Given the description of an element on the screen output the (x, y) to click on. 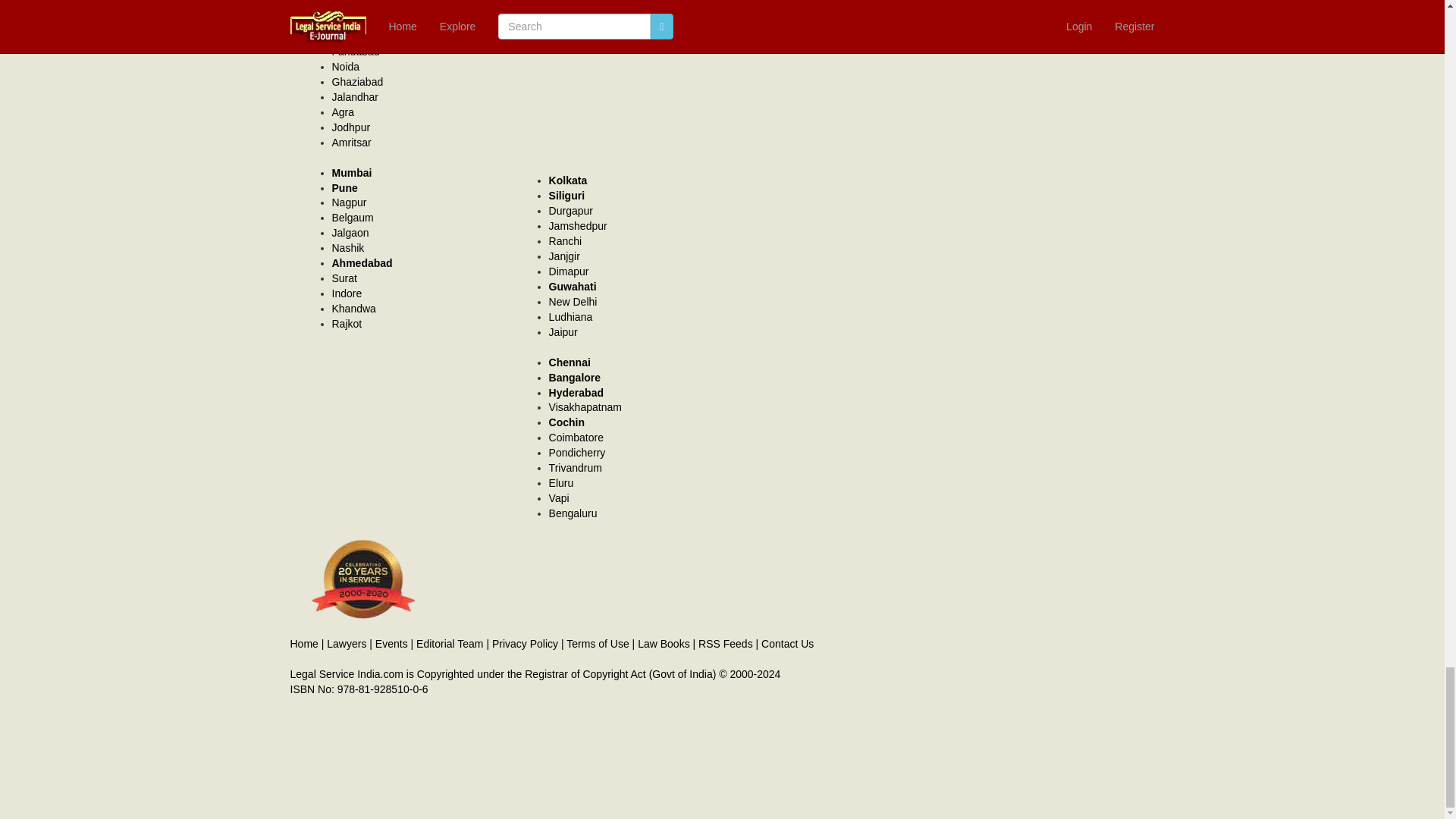
Lucknow (352, 21)
Faridabad (355, 51)
Lawyers in Allahabad (354, 6)
Ghaziabad (357, 81)
Lawyers in Lucknow (352, 21)
Pune (344, 187)
lawyers in Pune (344, 187)
lawyers in Agra (343, 111)
lawyers in Mumbai (351, 173)
Amritsar (351, 142)
